Given the description of an element on the screen output the (x, y) to click on. 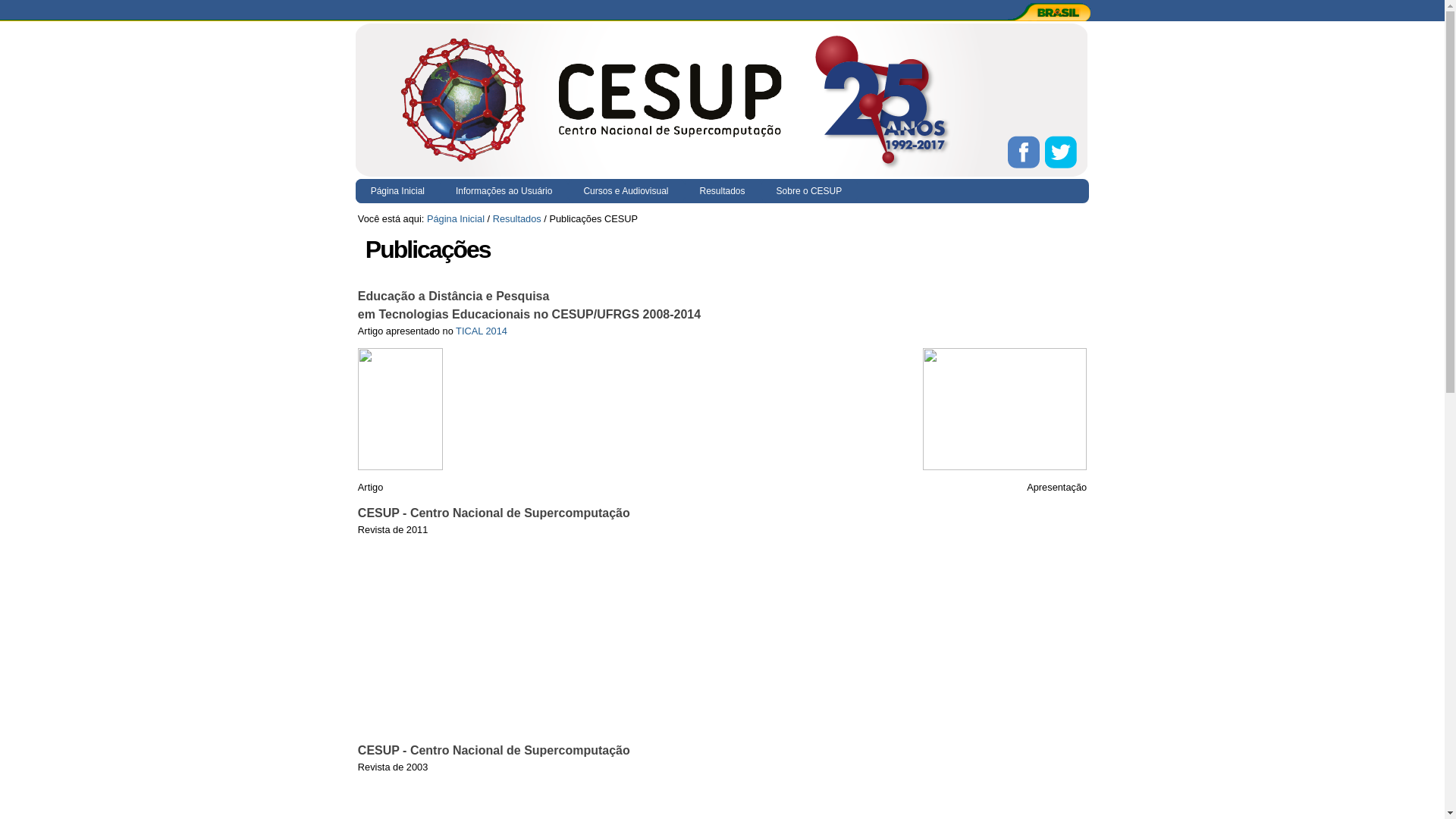
TICAL 2014 Element type: text (481, 330)
Cursos e Audiovisual Element type: text (625, 190)
Sobre o CESUP Element type: text (809, 190)
Resultados Element type: text (516, 218)
Resultados Element type: text (722, 190)
